Given the description of an element on the screen output the (x, y) to click on. 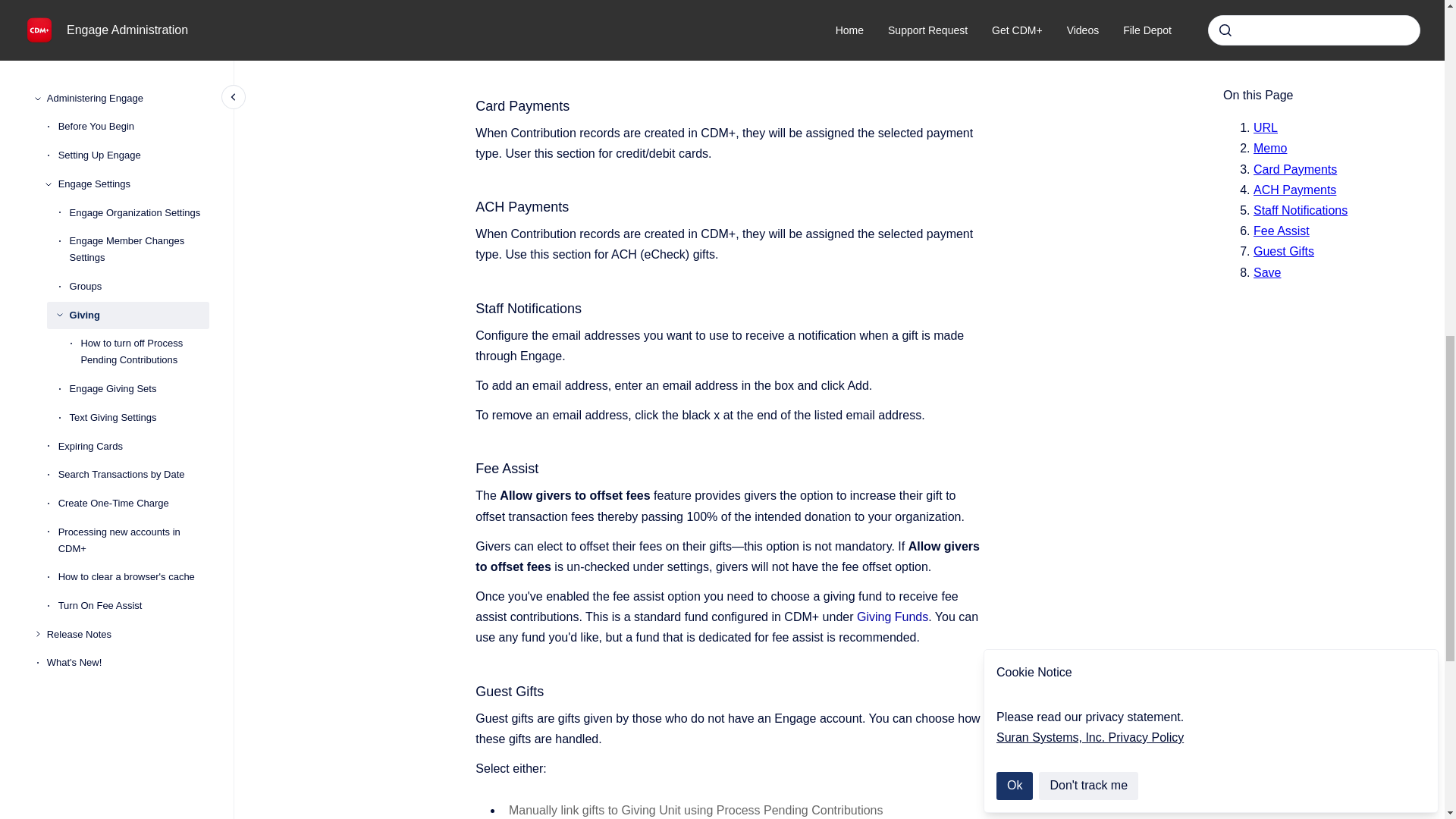
Copy to clipboard (468, 6)
